Given the description of an element on the screen output the (x, y) to click on. 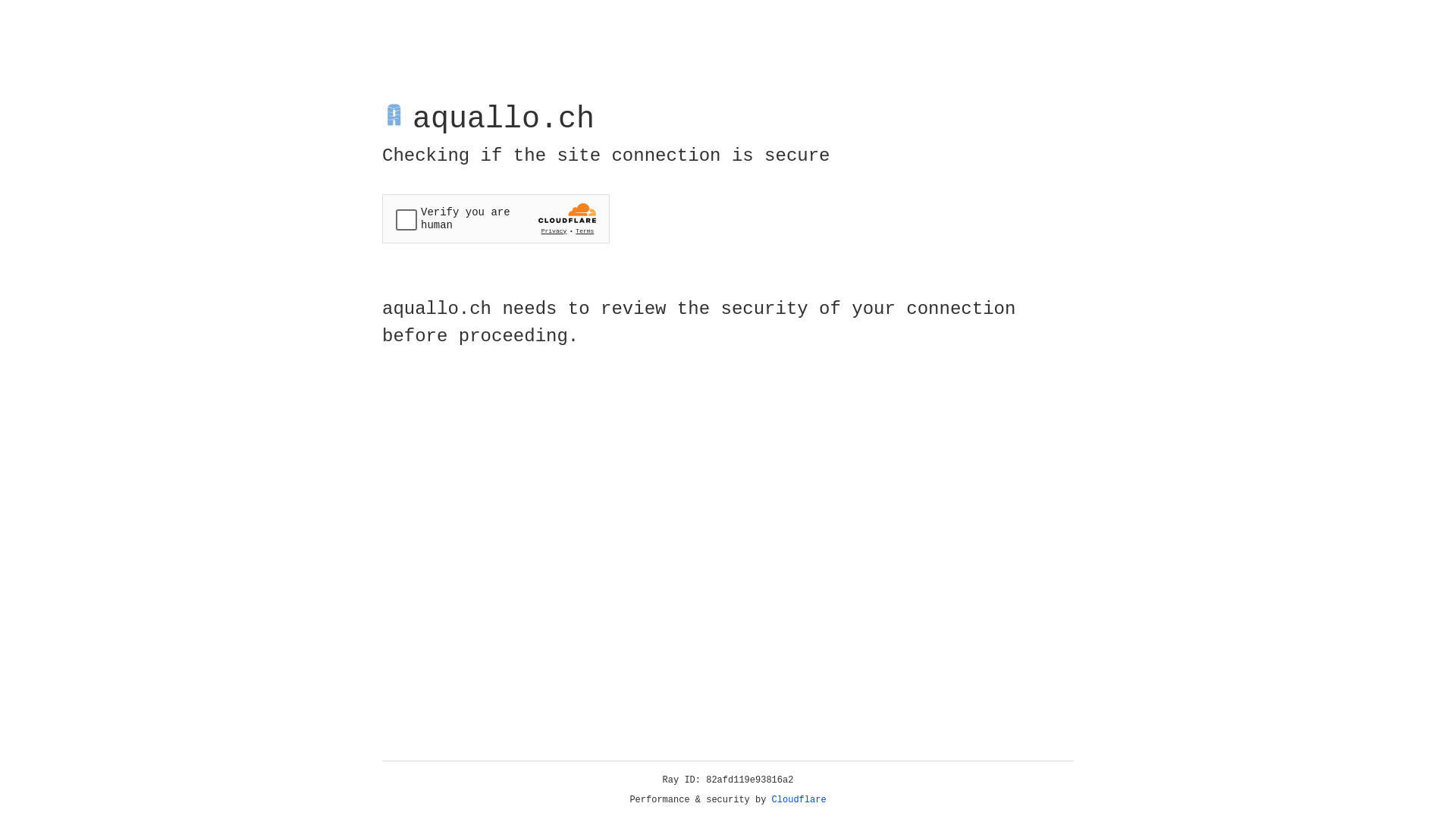
Widget containing a Cloudflare security challenge Element type: hover (495, 218)
Cloudflare Element type: text (798, 799)
